Given the description of an element on the screen output the (x, y) to click on. 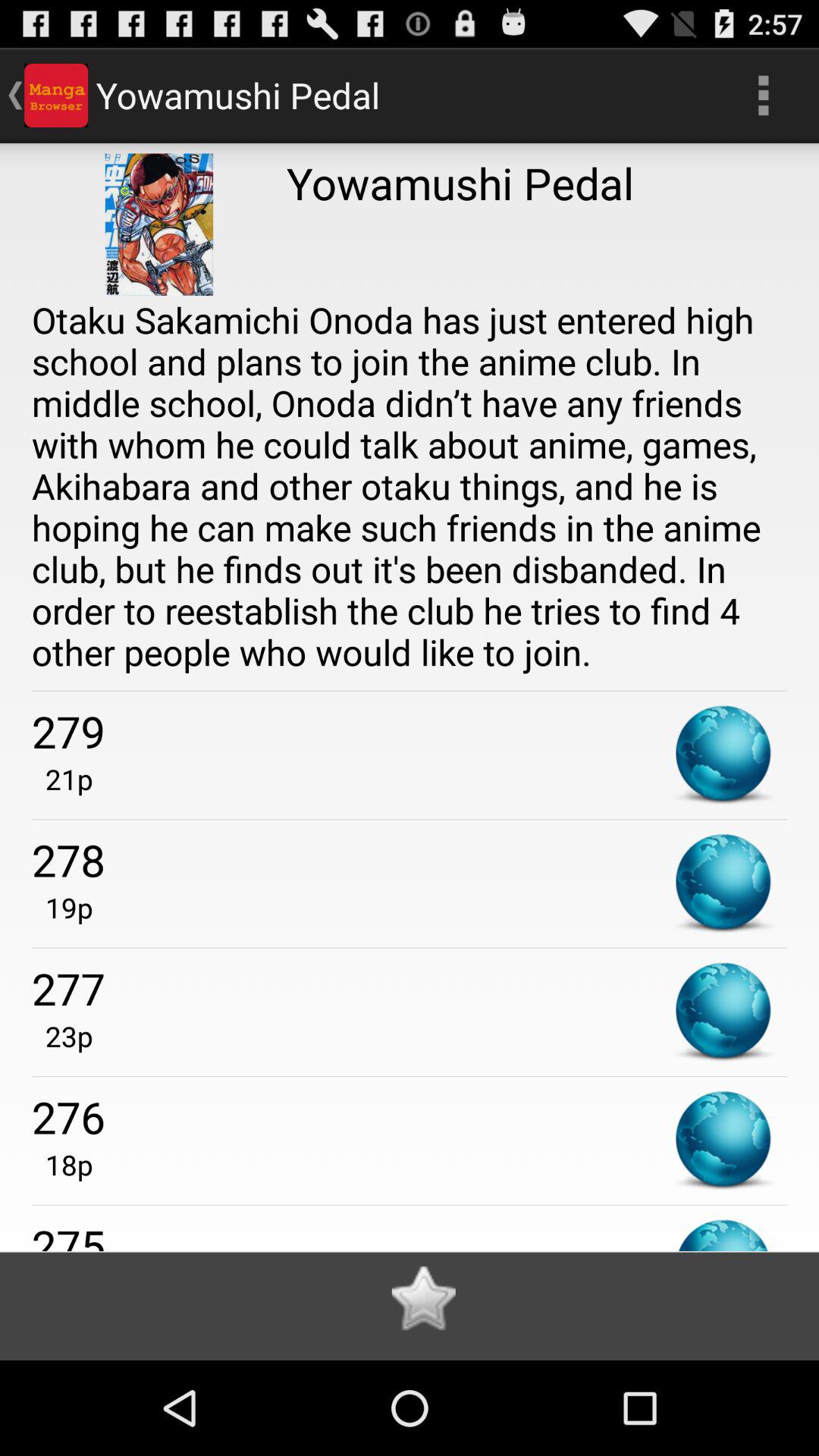
open item above the   21p item (409, 730)
